Given the description of an element on the screen output the (x, y) to click on. 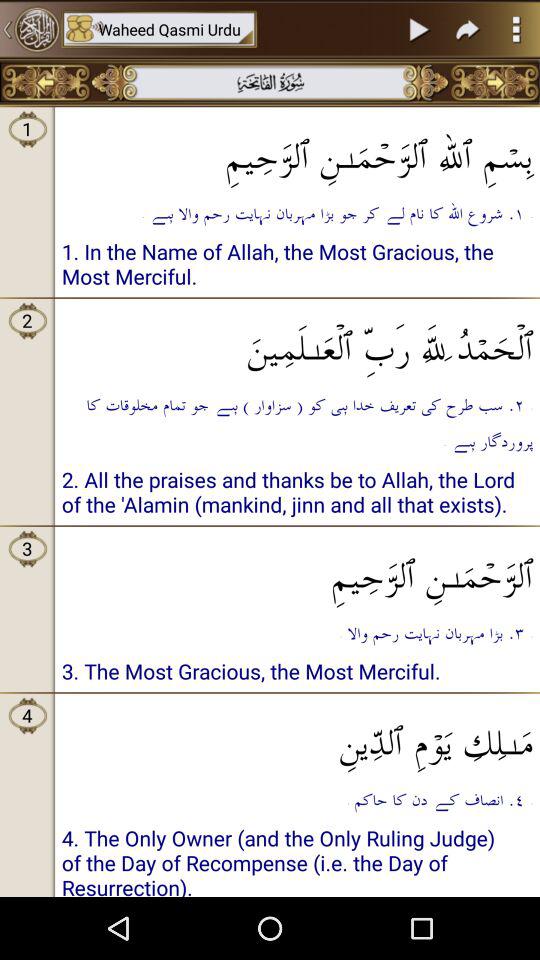
launch icon above the 1 item (45, 82)
